Given the description of an element on the screen output the (x, y) to click on. 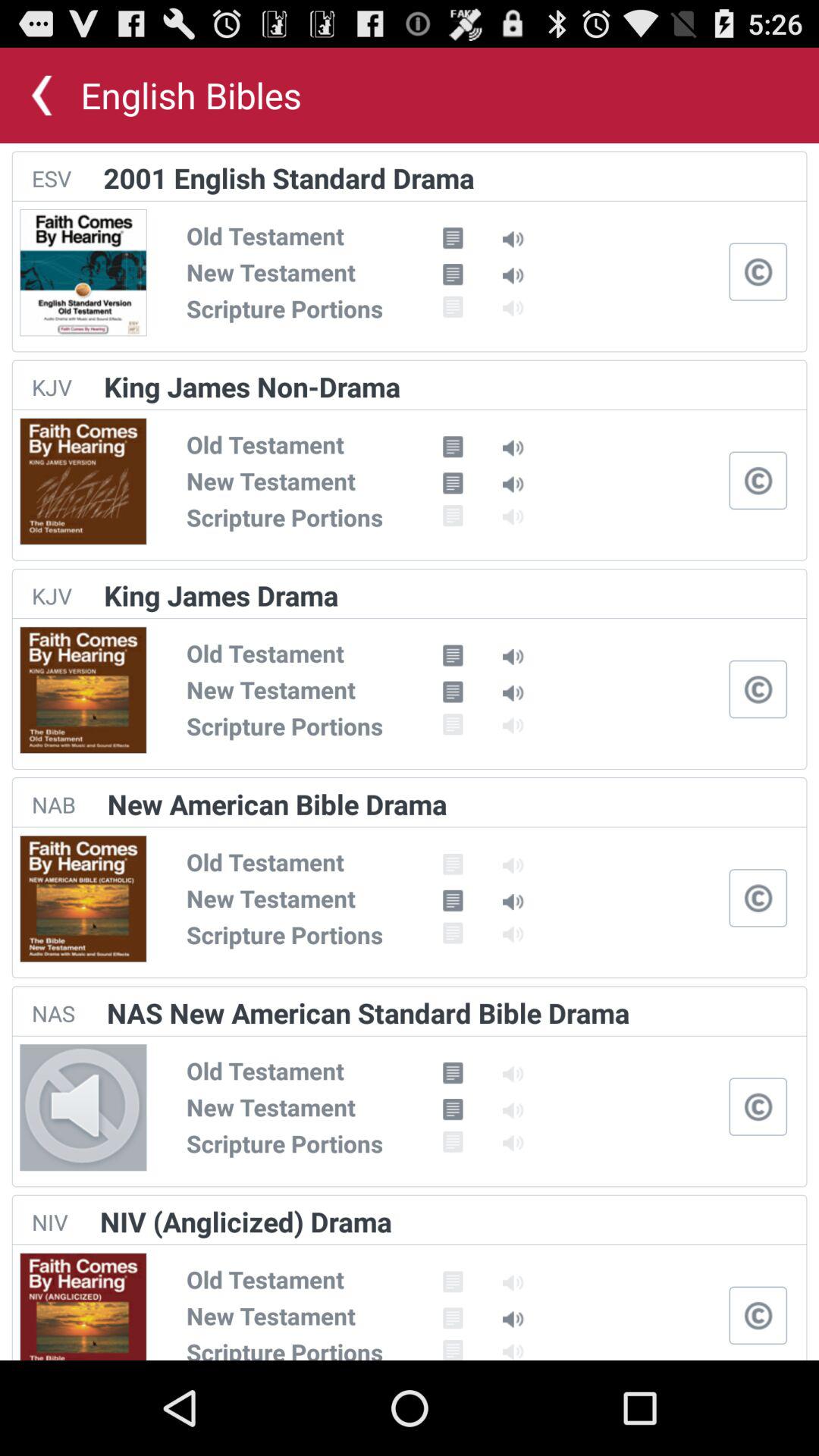
turn off the item to the left of new american bible (53, 804)
